Given the description of an element on the screen output the (x, y) to click on. 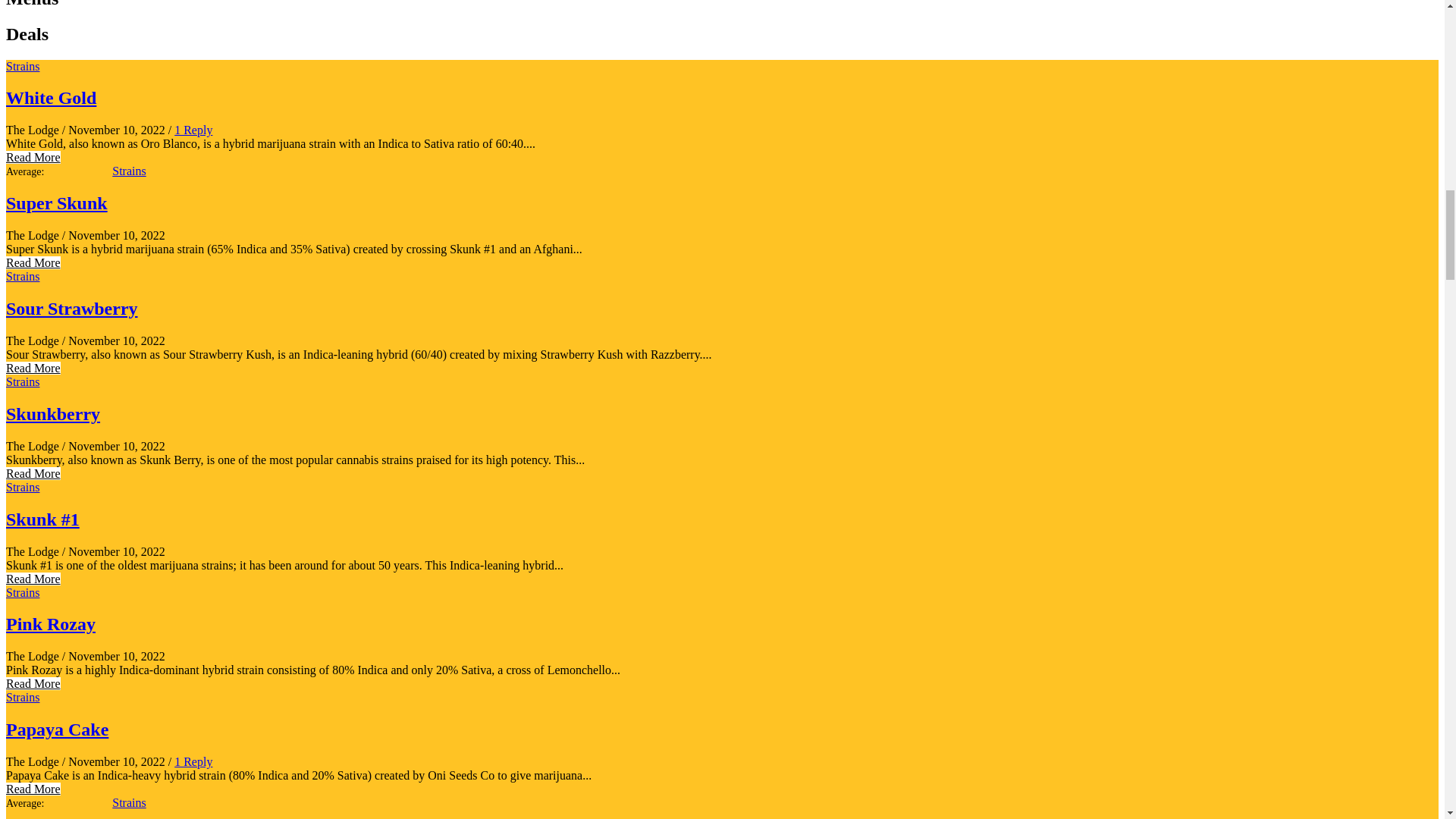
average: 5 out of 5. Total: 1 (58, 171)
average: 5 out of 5. Total: 1 (58, 803)
